Given the description of an element on the screen output the (x, y) to click on. 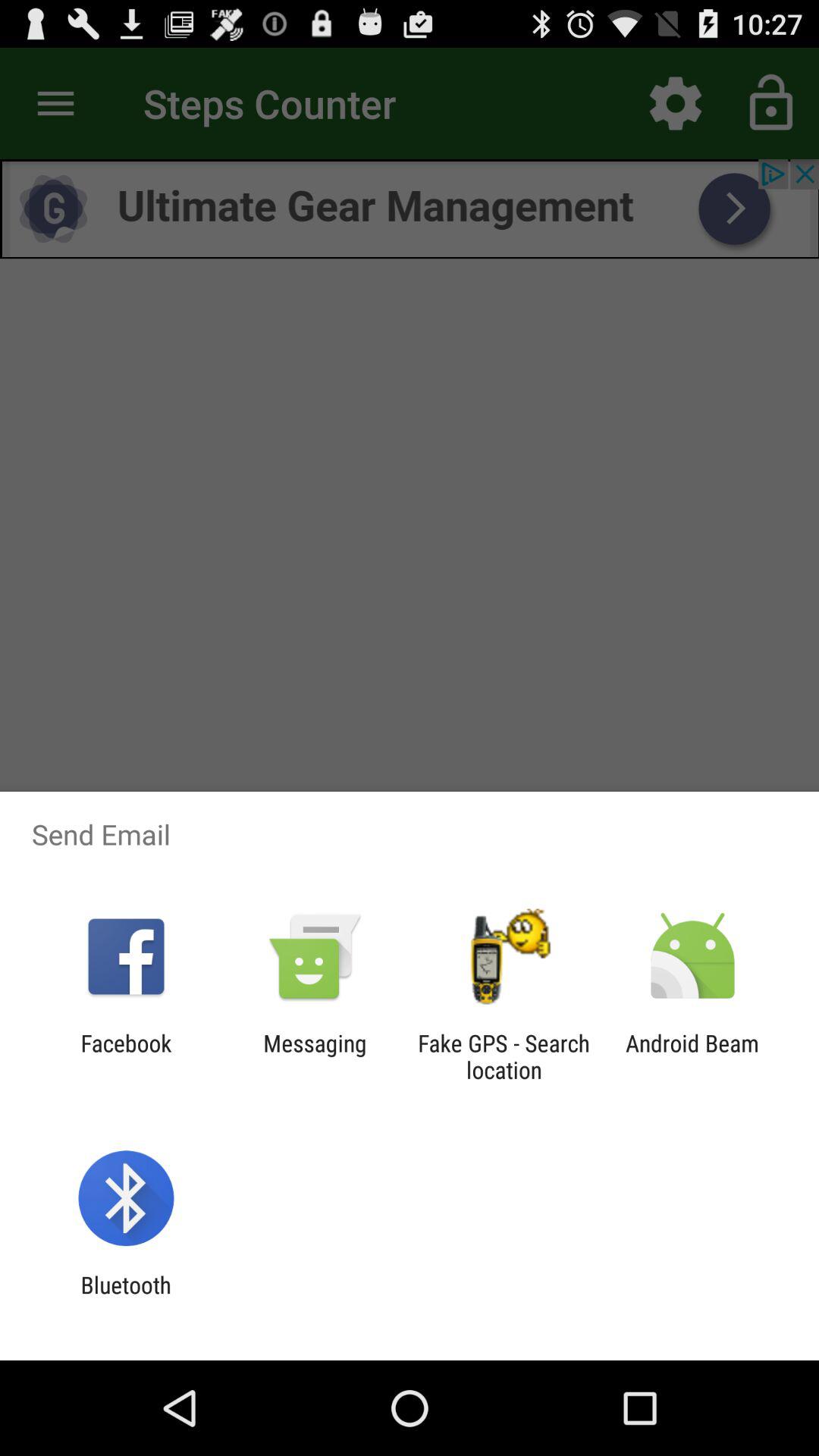
launch icon to the left of fake gps search (314, 1056)
